Given the description of an element on the screen output the (x, y) to click on. 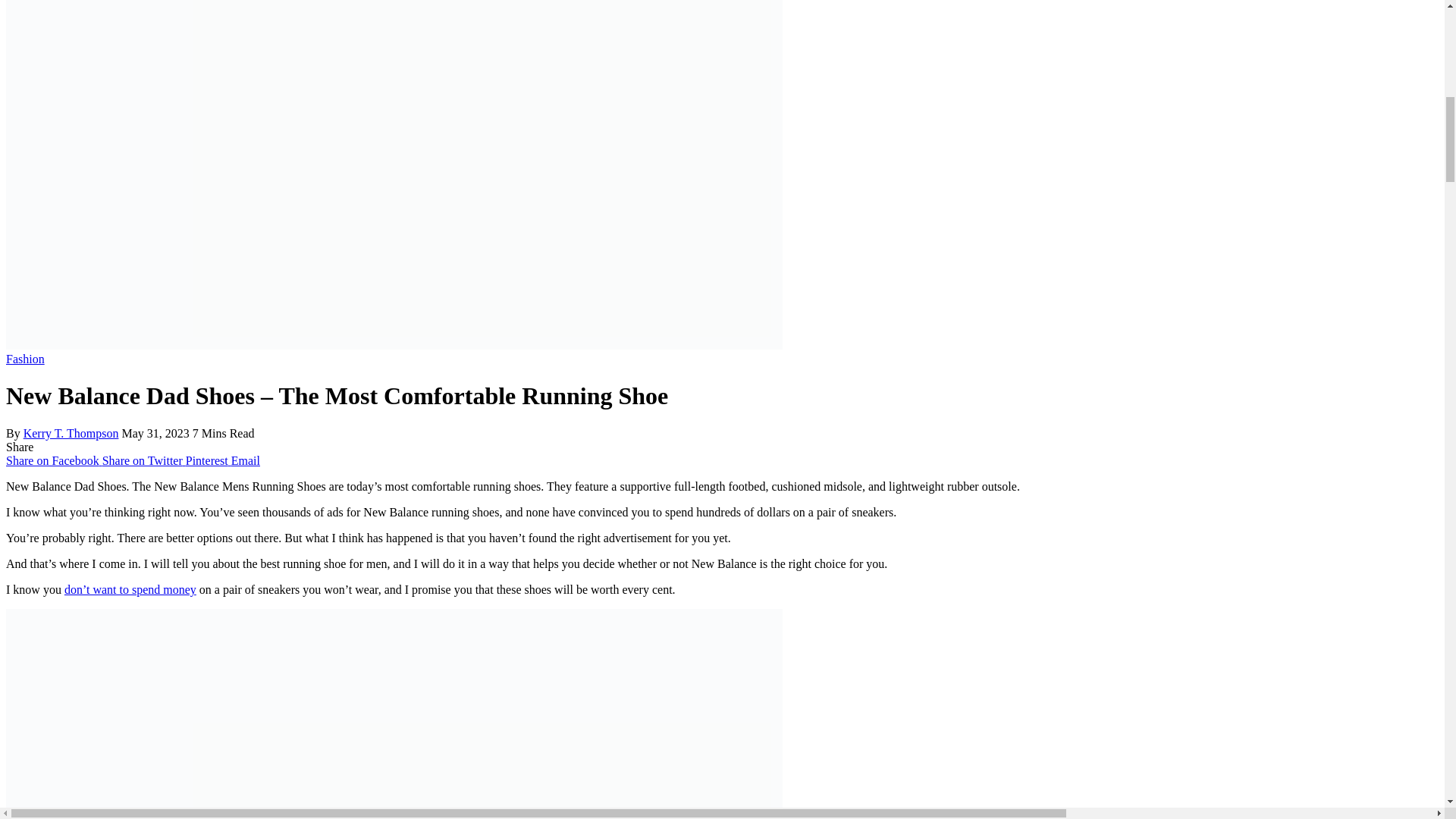
Share on Facebook (53, 460)
Email (245, 460)
Share on Twitter (143, 460)
Posts by Kerry T. Thompson (71, 432)
Pinterest (208, 460)
